Given the description of an element on the screen output the (x, y) to click on. 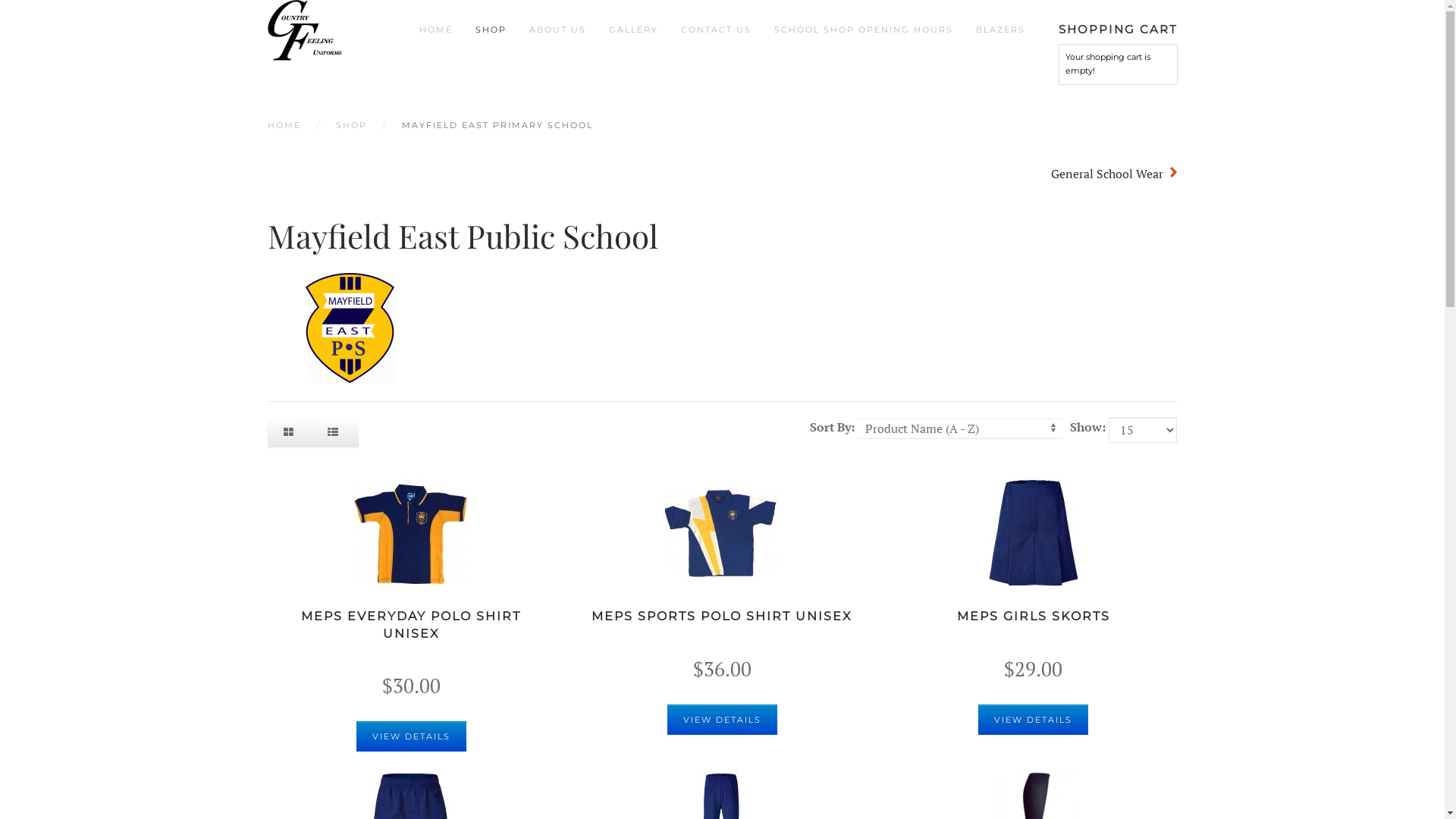
MEPS Girls Skorts Element type: hover (1033, 531)
VIEW DETAILS Element type: text (722, 719)
SHOP Element type: text (350, 125)
SCHOOL SHOP OPENING HOURS Element type: text (863, 30)
VIEW DETAILS Element type: text (411, 736)
VIEW DETAILS Element type: text (1033, 719)
BLAZERS Element type: text (1000, 30)
GALLERY Element type: text (633, 30)
MEPS Girls Skorts Element type: hover (1033, 532)
HOME Element type: text (283, 125)
CONTACT US Element type: text (715, 30)
General School Wear Element type: text (1113, 173)
MEPS GIRLS SKORTS Element type: text (1033, 615)
MEPS Sports Polo Shirt Unisex Element type: hover (721, 532)
MEPS Everyday Polo Shirt Unisex Element type: hover (410, 532)
MEPS EVERYDAY POLO SHIRT UNISEX Element type: text (410, 624)
HOME Element type: text (435, 30)
Mayfield East Public School Element type: hover (349, 327)
MEPS SPORTS POLO SHIRT UNISEX Element type: text (721, 615)
MEPS Everyday Polo Shirt Unisex Element type: hover (410, 531)
MEPS Sports Polo Shirt Unisex Element type: hover (721, 531)
ABOUT US Element type: text (557, 30)
SHOP Element type: text (490, 30)
